Given the description of an element on the screen output the (x, y) to click on. 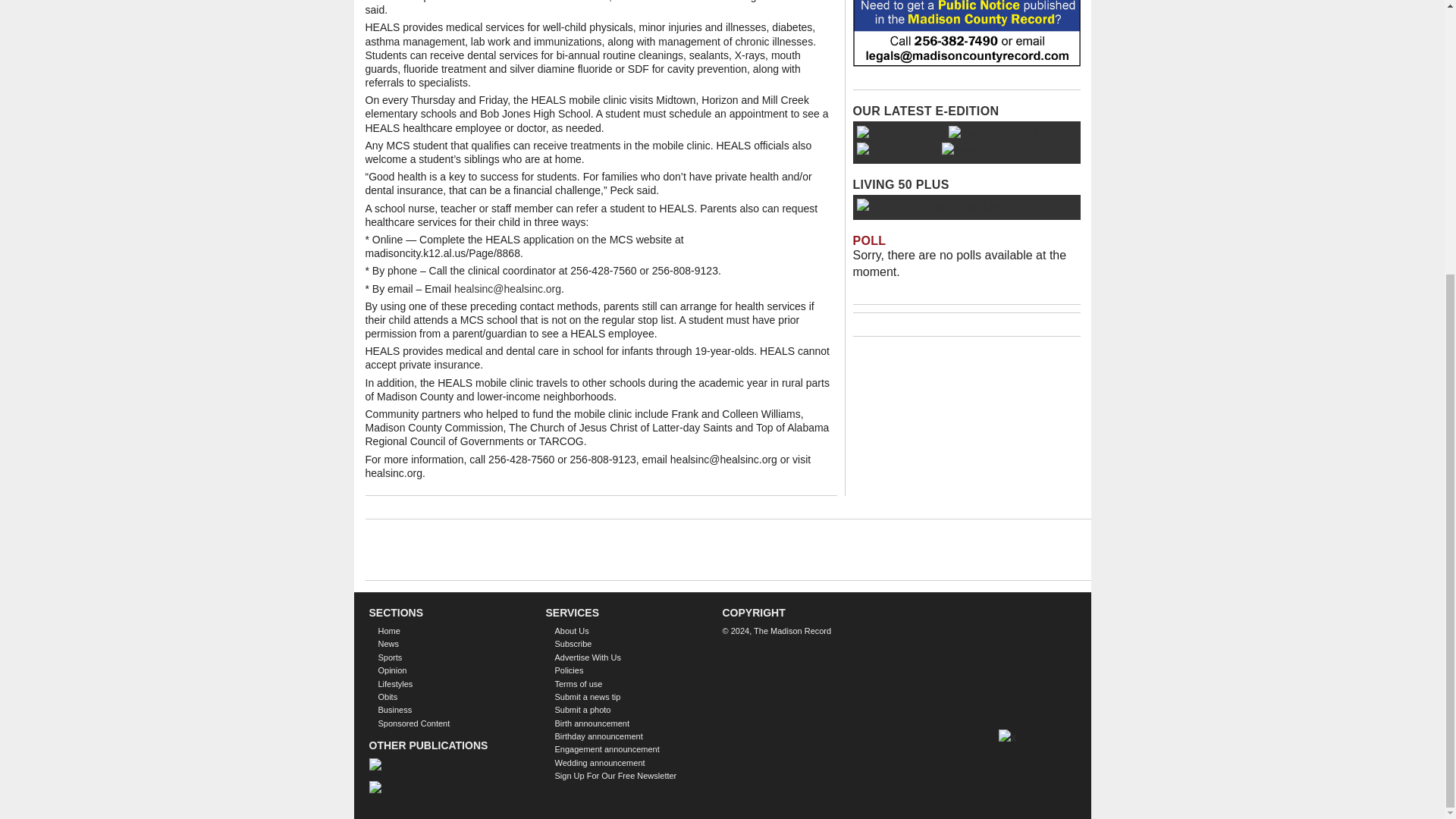
June 19, 2024 (900, 132)
OUR LATEST E-EDITION (924, 110)
June 12, 2024 (992, 132)
